Given the description of an element on the screen output the (x, y) to click on. 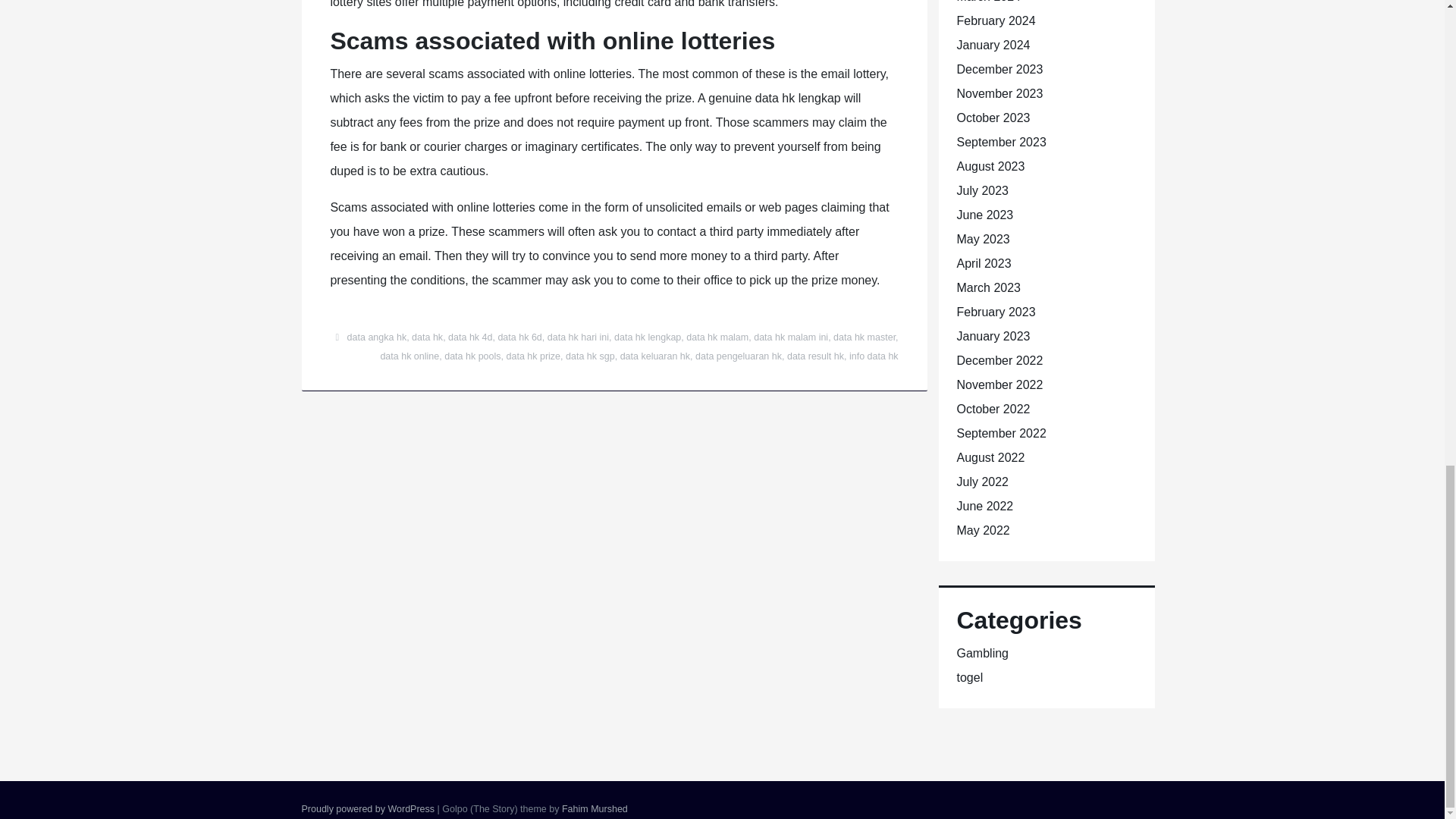
data keluaran hk (655, 356)
March 2024 (989, 1)
data angka hk (377, 337)
data hk malam (716, 337)
data hk sgp (590, 356)
October 2023 (993, 117)
data hk online (409, 356)
data hk pools (472, 356)
data hk master (863, 337)
info data hk (873, 356)
data hk prize (533, 356)
data hk malam ini (791, 337)
data pengeluaran hk (738, 356)
December 2023 (999, 69)
November 2023 (999, 92)
